Given the description of an element on the screen output the (x, y) to click on. 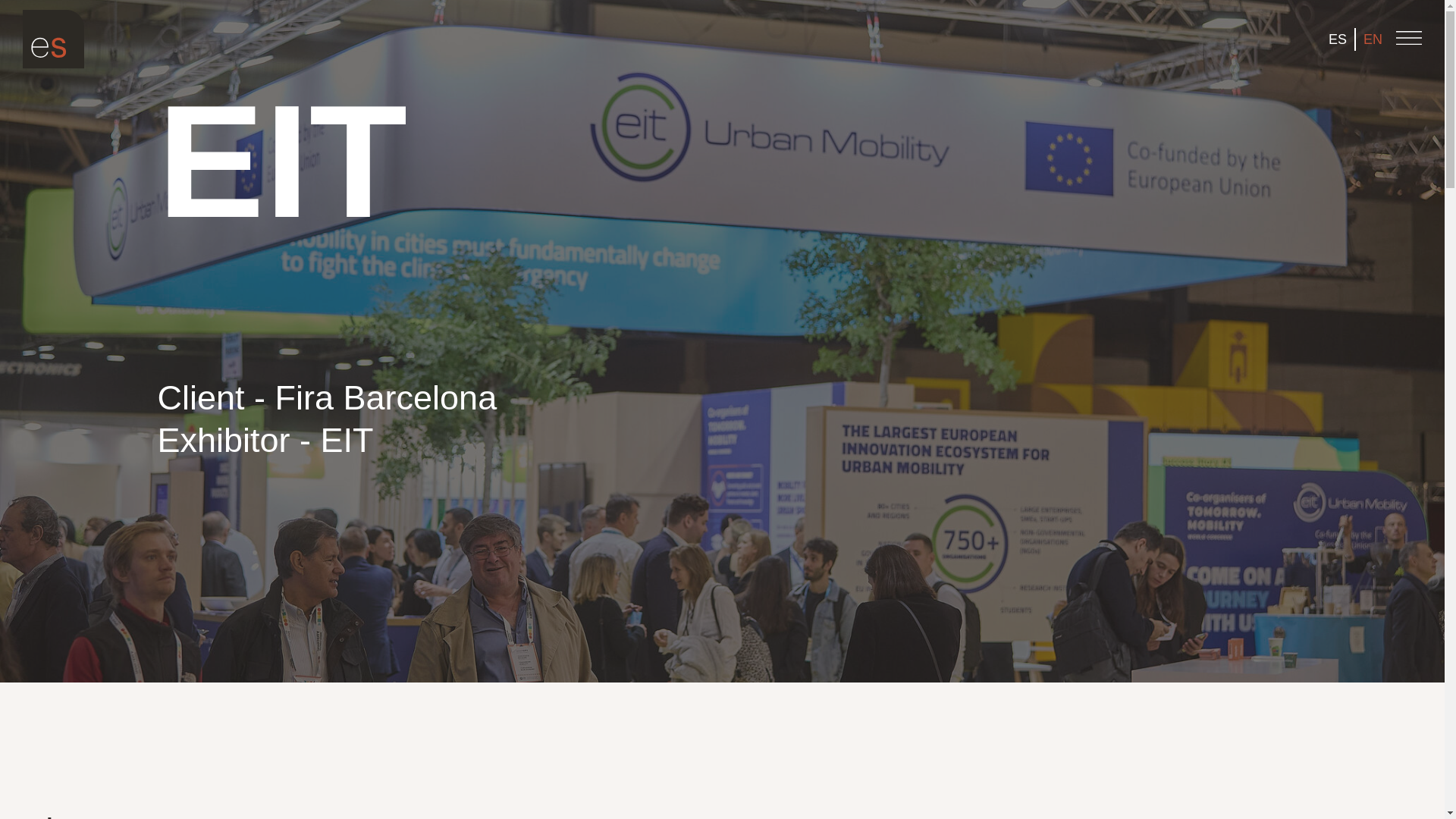
ES (1337, 38)
EN (1372, 38)
ES Group (53, 64)
ES Group (53, 38)
